Given the description of an element on the screen output the (x, y) to click on. 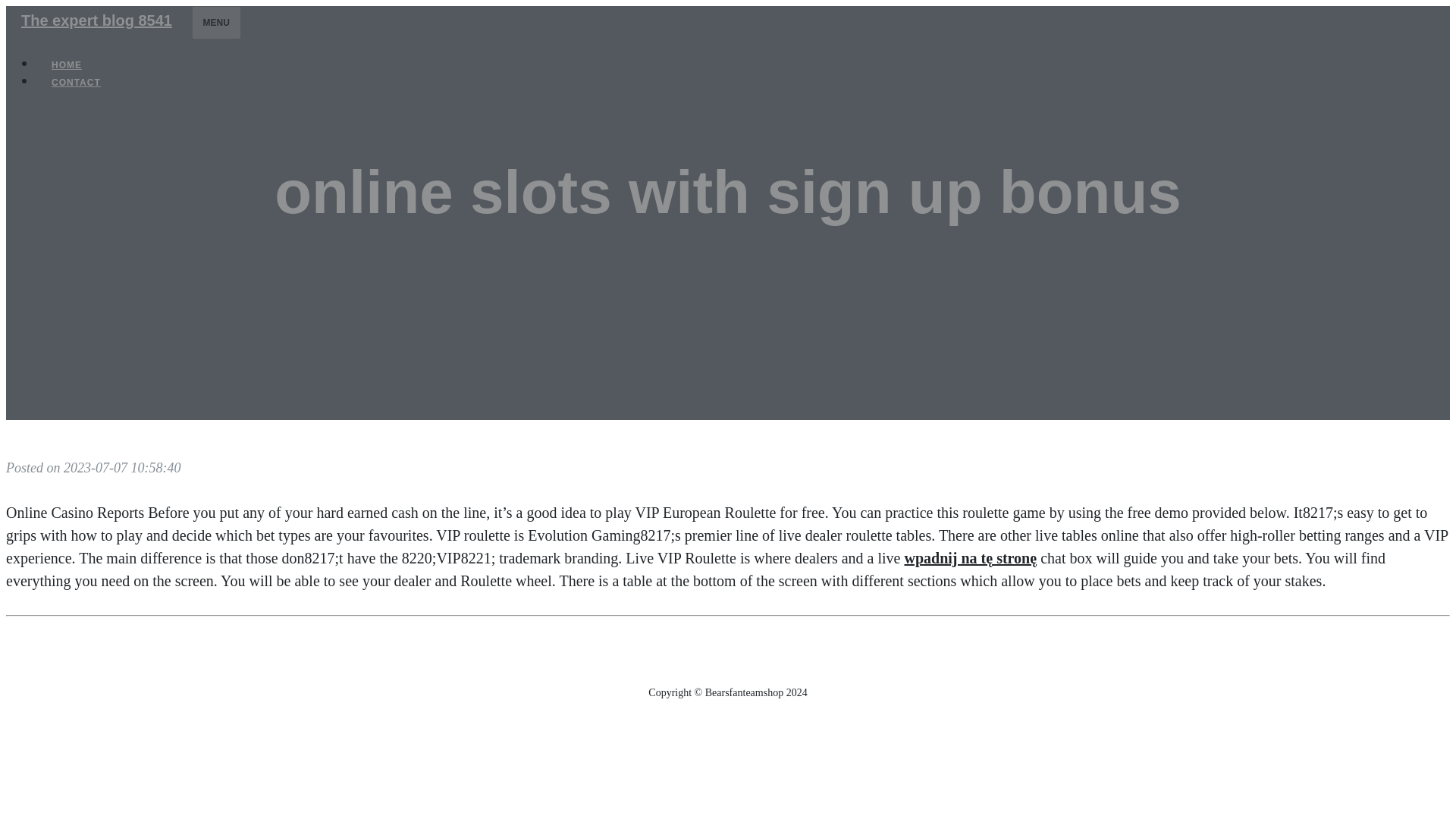
HOME (66, 64)
The expert blog 8541 (96, 20)
MENU (216, 22)
CONTACT (76, 82)
